Given the description of an element on the screen output the (x, y) to click on. 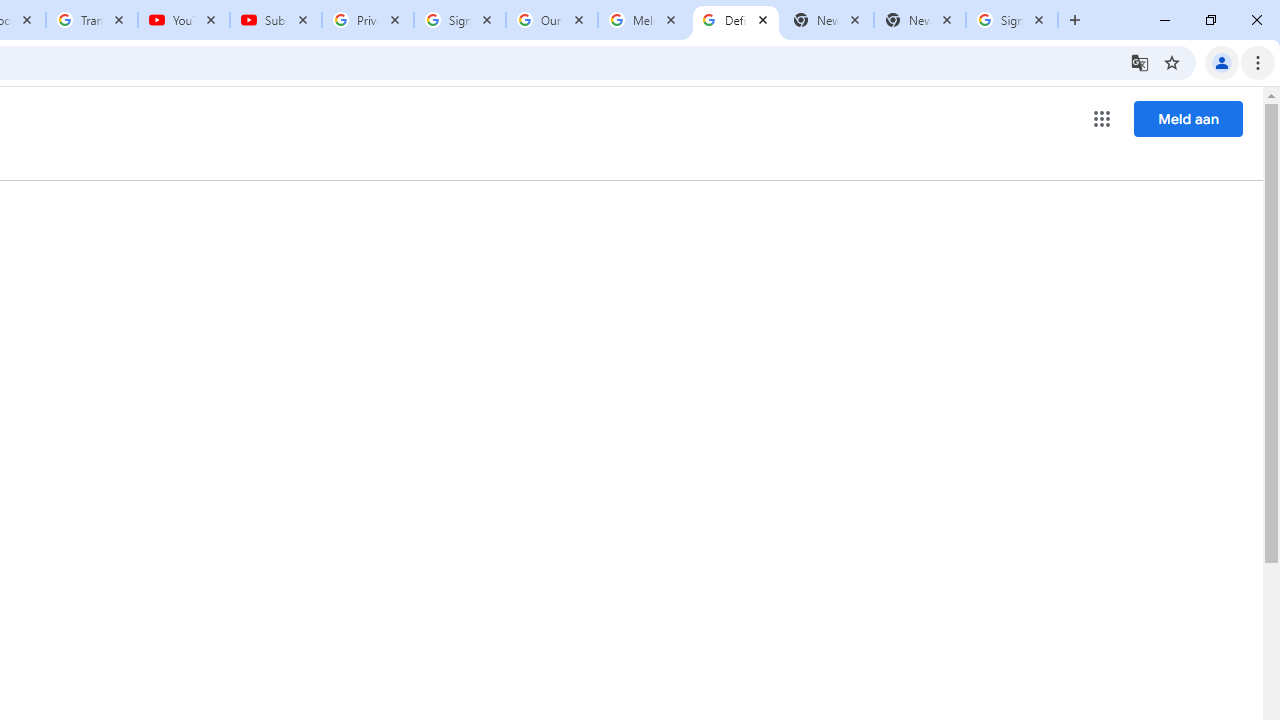
YouTube (184, 20)
Sign in - Google Accounts (459, 20)
Google-programme (1101, 118)
Subscriptions - YouTube (276, 20)
Meld aan (1188, 118)
Sign in - Google Accounts (1012, 20)
New Tab (920, 20)
